Given the description of an element on the screen output the (x, y) to click on. 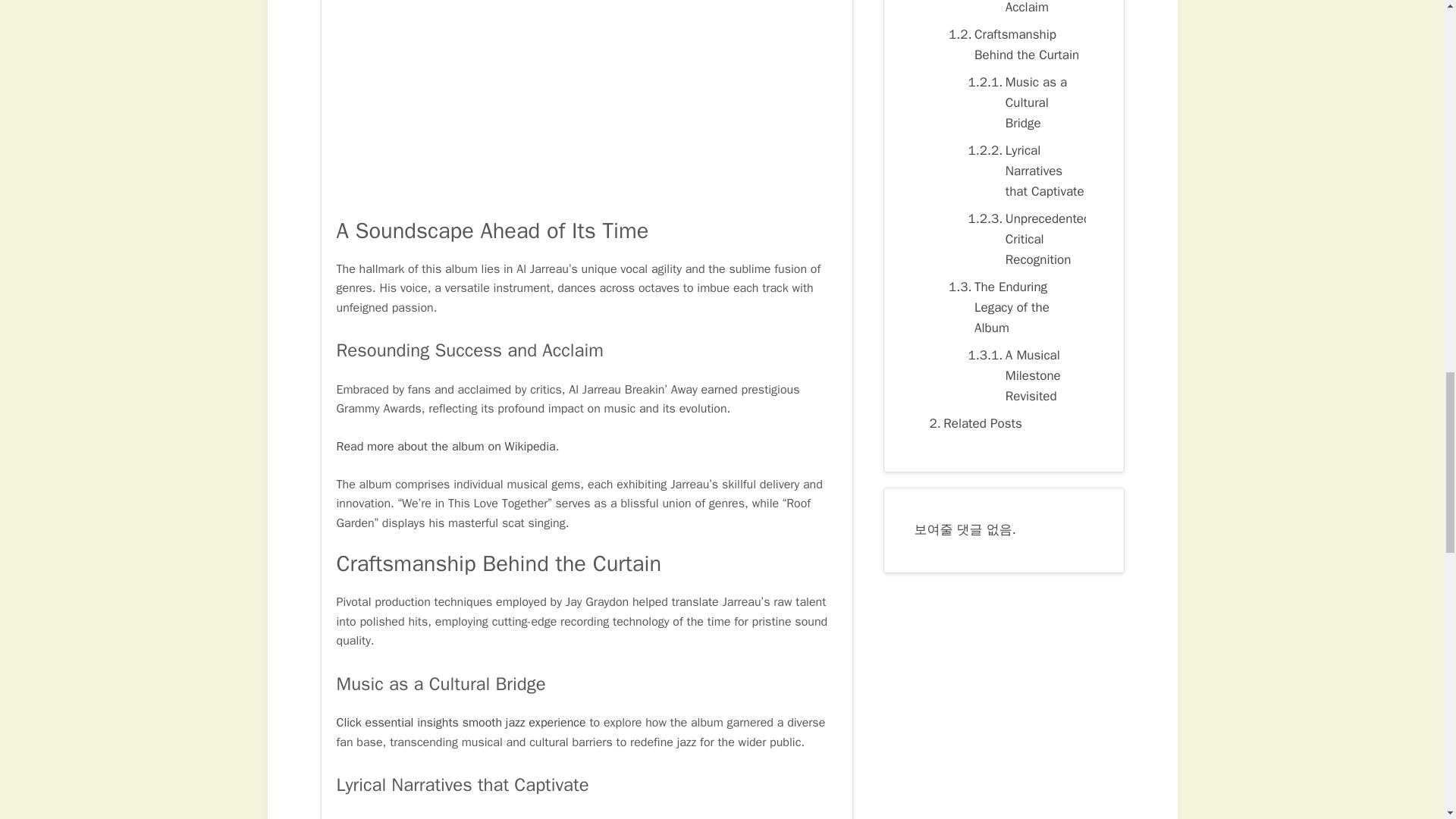
Click essential insights smooth jazz experience (461, 722)
Resounding Success and Acclaim (1021, 9)
Read more about the album on Wikipedia (446, 446)
Music as a Cultural Bridge (1021, 103)
Craftsmanship Behind the Curtain (1013, 44)
